Given the description of an element on the screen output the (x, y) to click on. 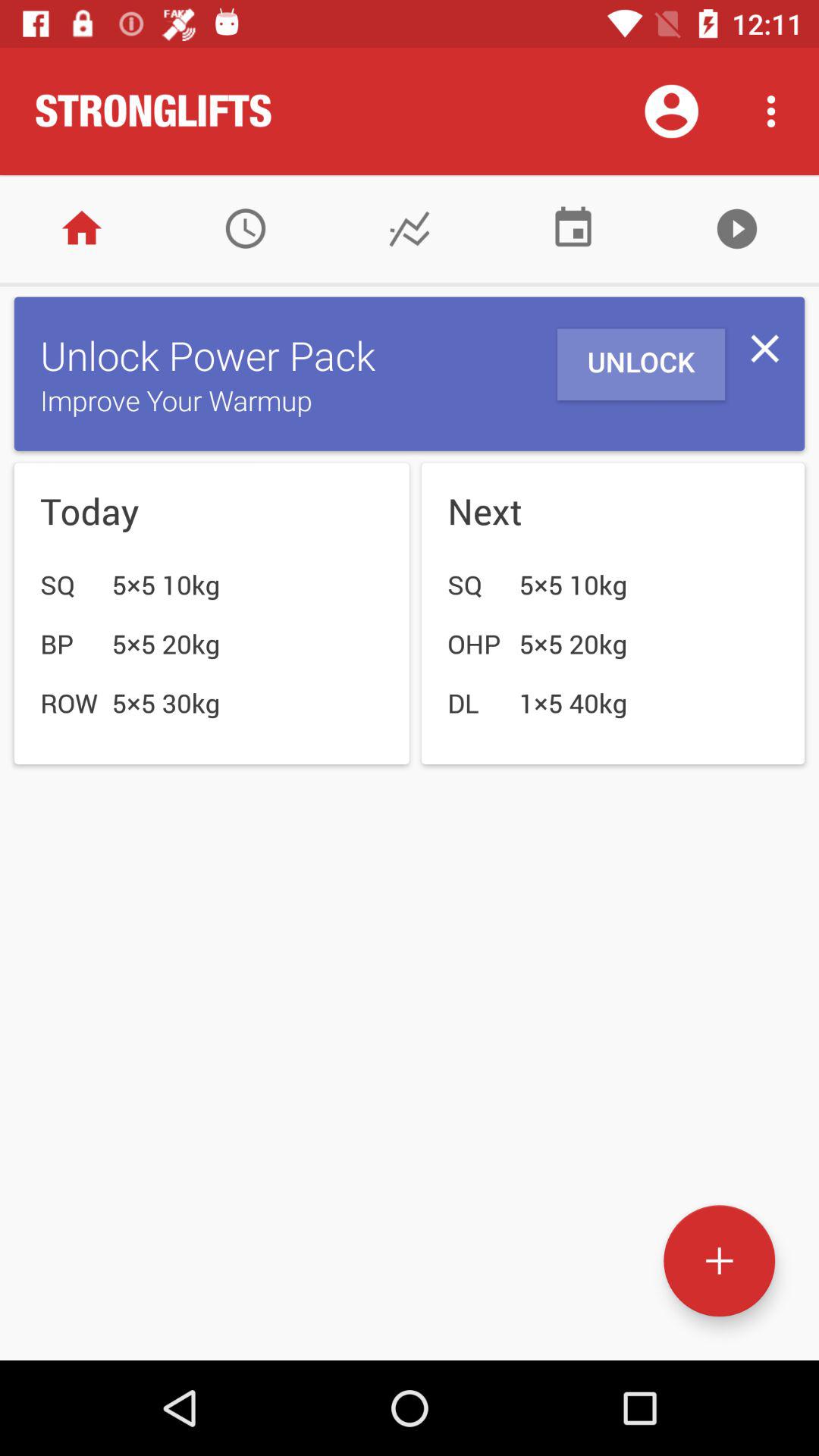
play (737, 228)
